Given the description of an element on the screen output the (x, y) to click on. 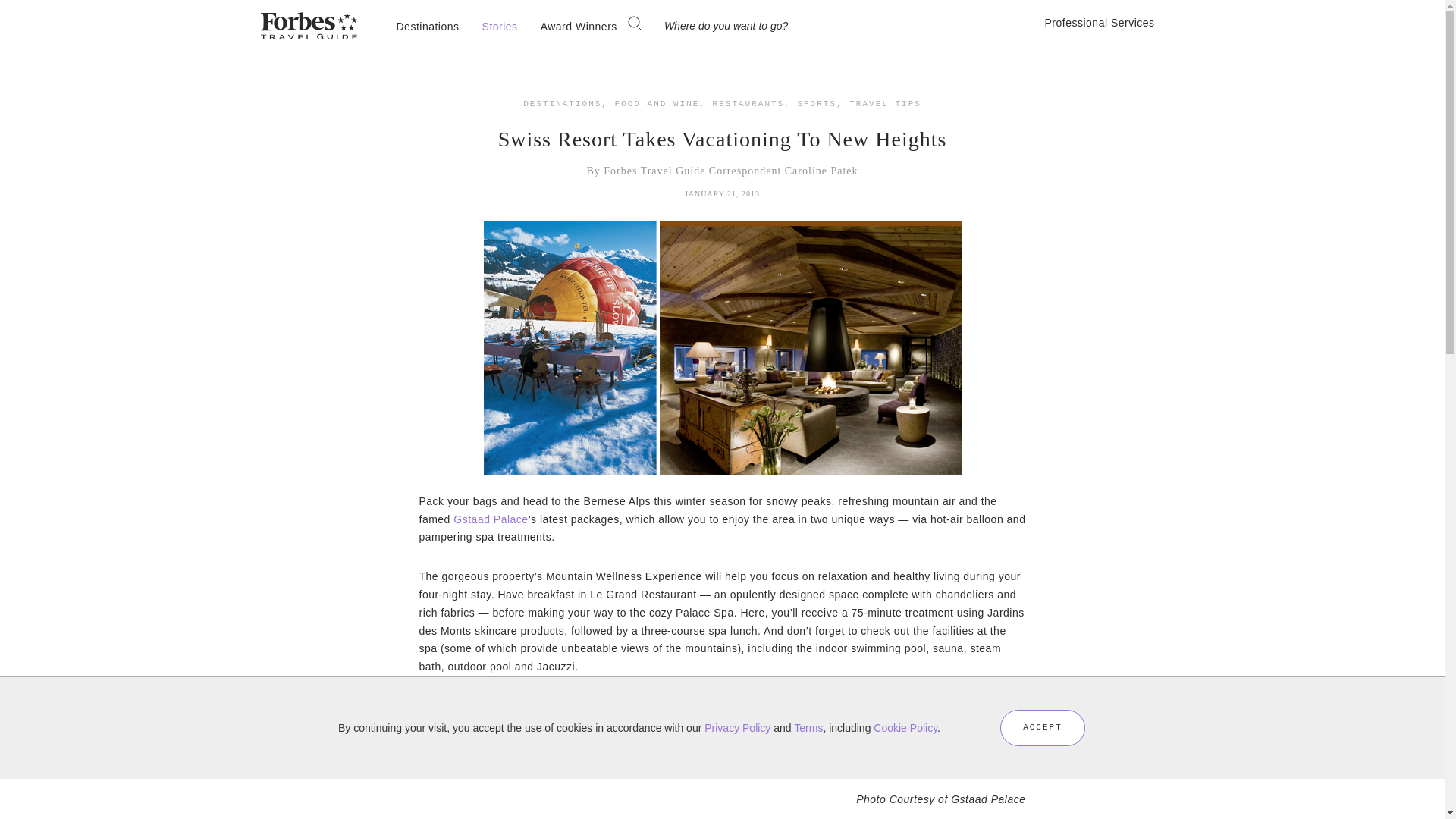
DESTINATIONS (561, 103)
Gstaad Palace (489, 519)
SPORTS (815, 103)
Forbes Travel Guide Correspondent Caroline Patek (730, 170)
RESTAURANTS (748, 103)
FOOD AND WINE (657, 103)
TRAVEL TIPS (884, 103)
Professional Services (1113, 22)
Award Winners (578, 26)
Destinations (427, 26)
